Given the description of an element on the screen output the (x, y) to click on. 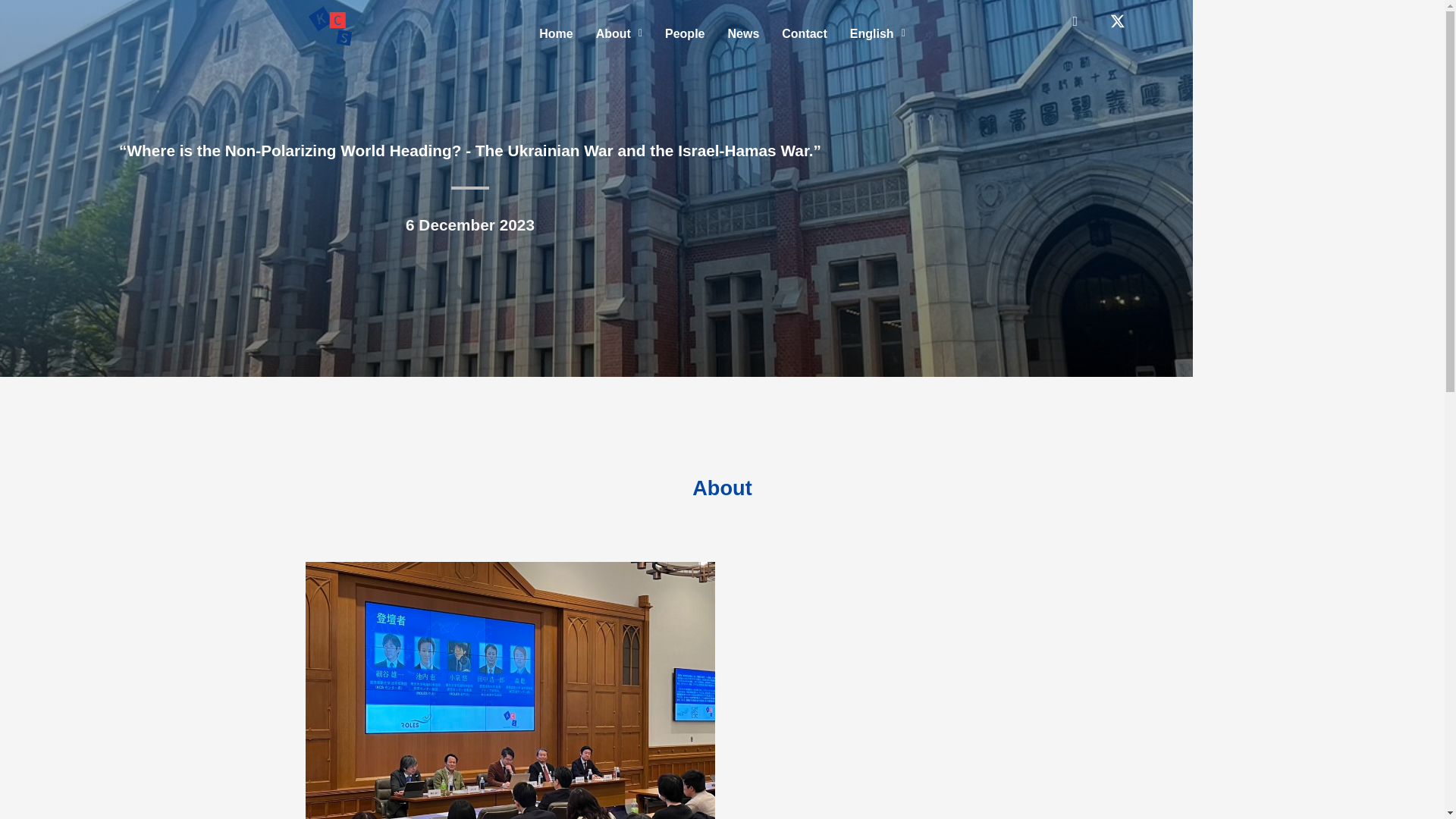
People (684, 33)
Contact (804, 33)
About (619, 33)
News (743, 33)
Home (555, 33)
English (877, 33)
